Given the description of an element on the screen output the (x, y) to click on. 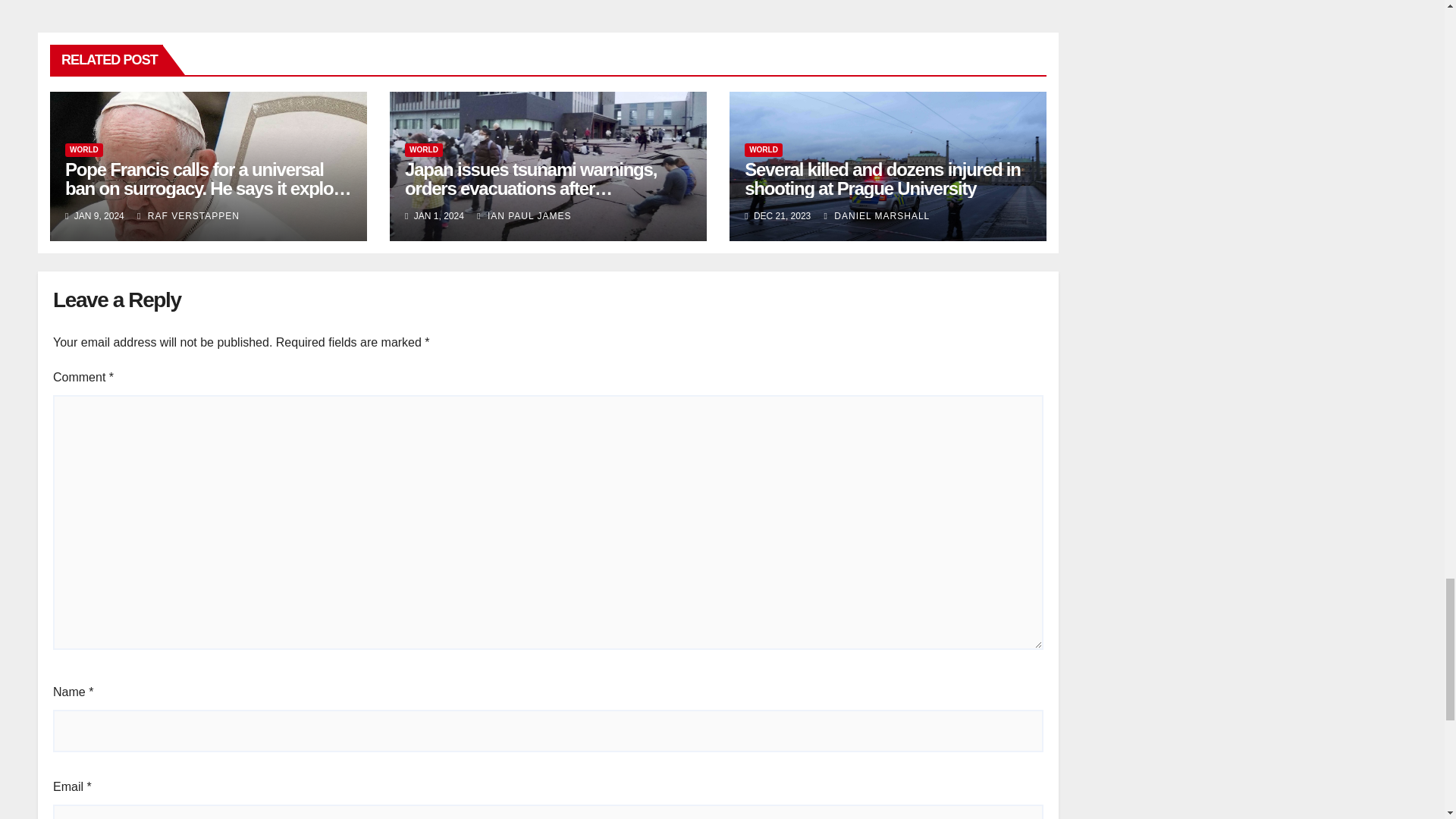
WORLD (84, 150)
WORLD (423, 150)
DANIEL MARSHALL (877, 215)
RAF VERSTAPPEN (188, 215)
IAN PAUL JAMES (523, 215)
WORLD (763, 150)
